Given the description of an element on the screen output the (x, y) to click on. 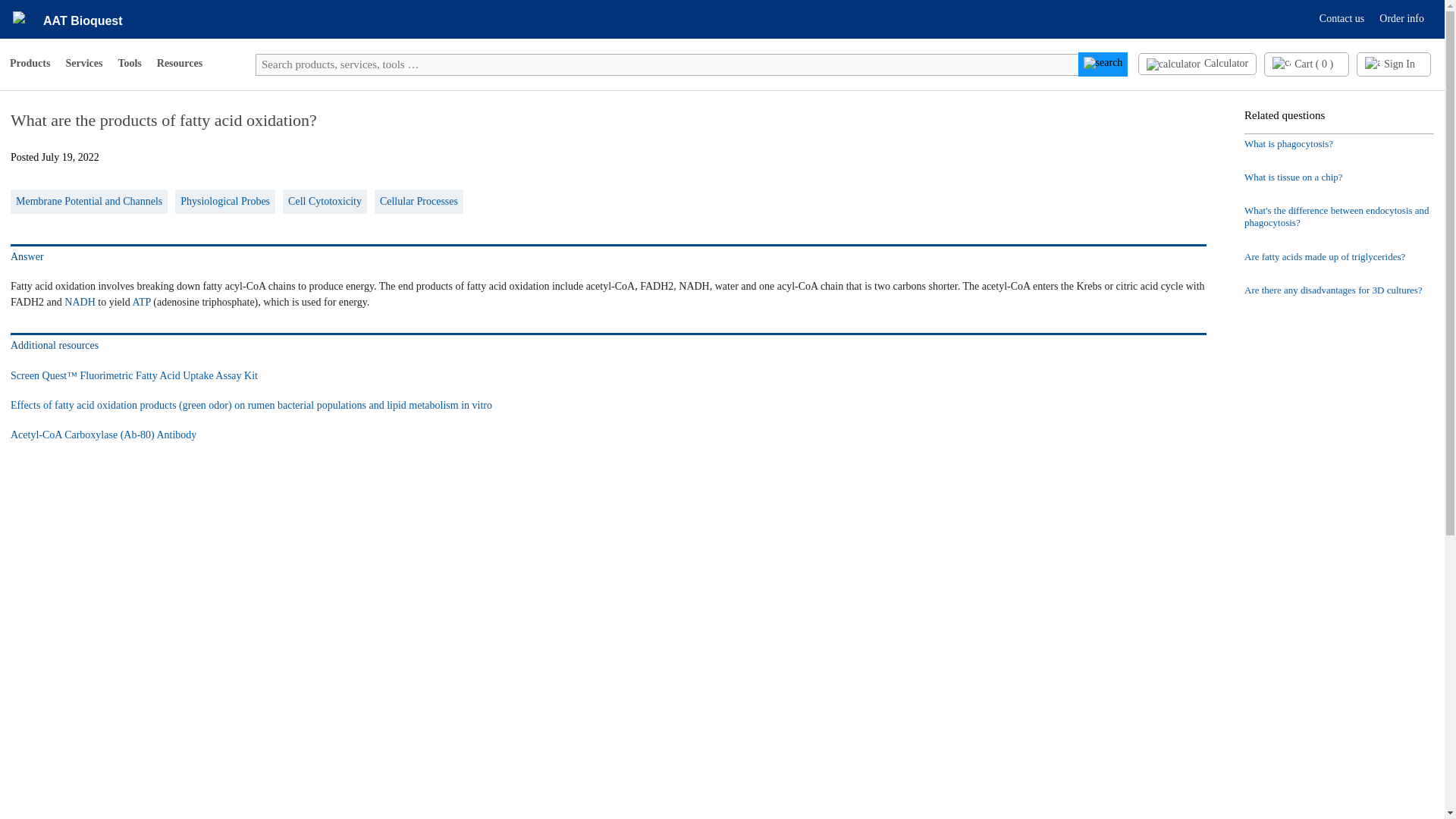
Order info (1400, 17)
Cellular Processes (419, 201)
Contact us (1342, 17)
What's the difference between endocytosis and phagocytosis? (1339, 217)
Membrane Potential and Channels (88, 201)
NADH (79, 301)
Are there any disadvantages for 3D cultures? (1339, 290)
Are fatty acids made up of triglycerides? (1339, 256)
Physiological Probes (224, 201)
What is tissue on a chip? (1339, 177)
